Given the description of an element on the screen output the (x, y) to click on. 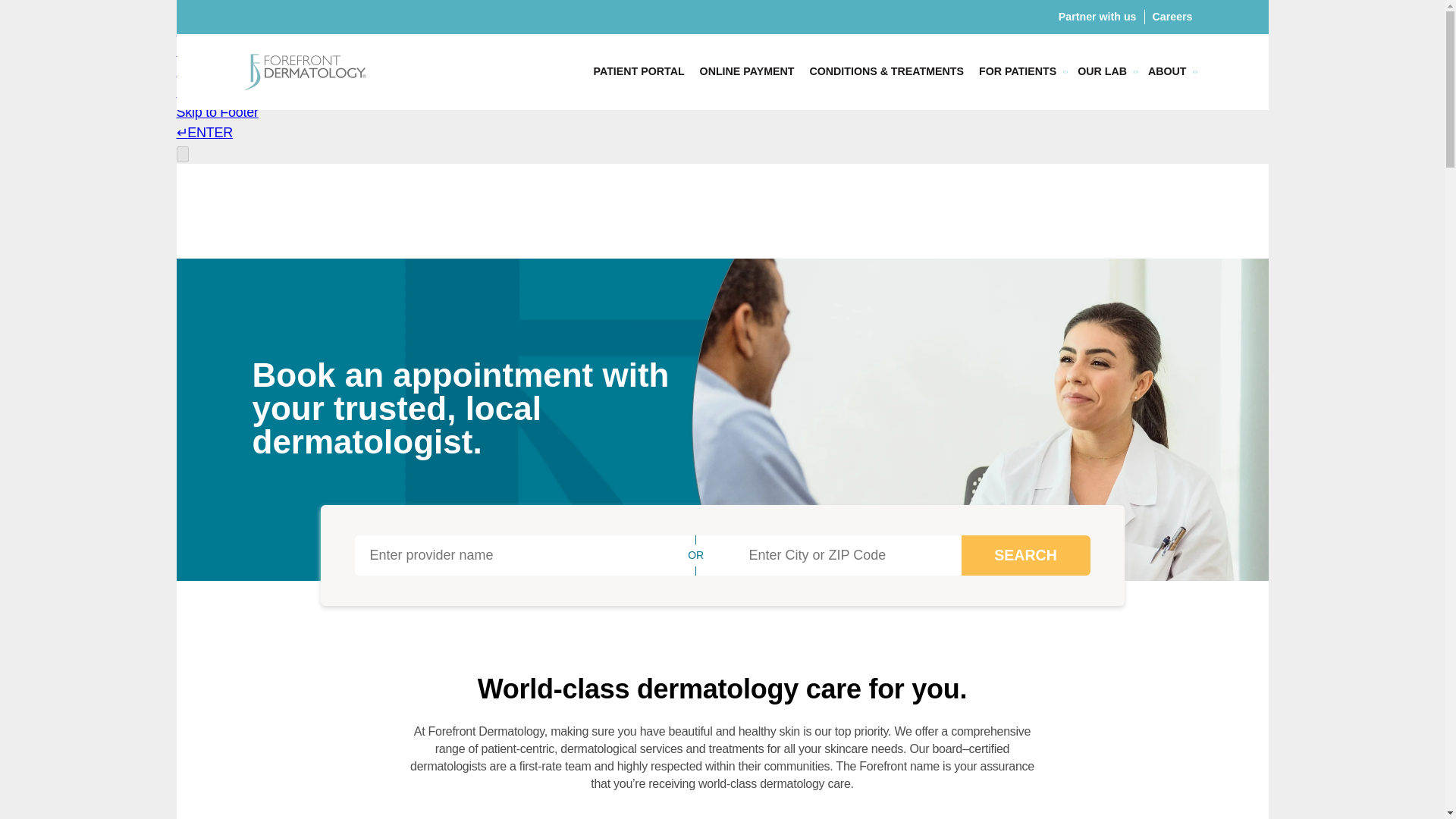
PATIENT PORTAL (639, 71)
ONLINE PAYMENT (747, 71)
FOR PATIENTS (1017, 71)
